Given the description of an element on the screen output the (x, y) to click on. 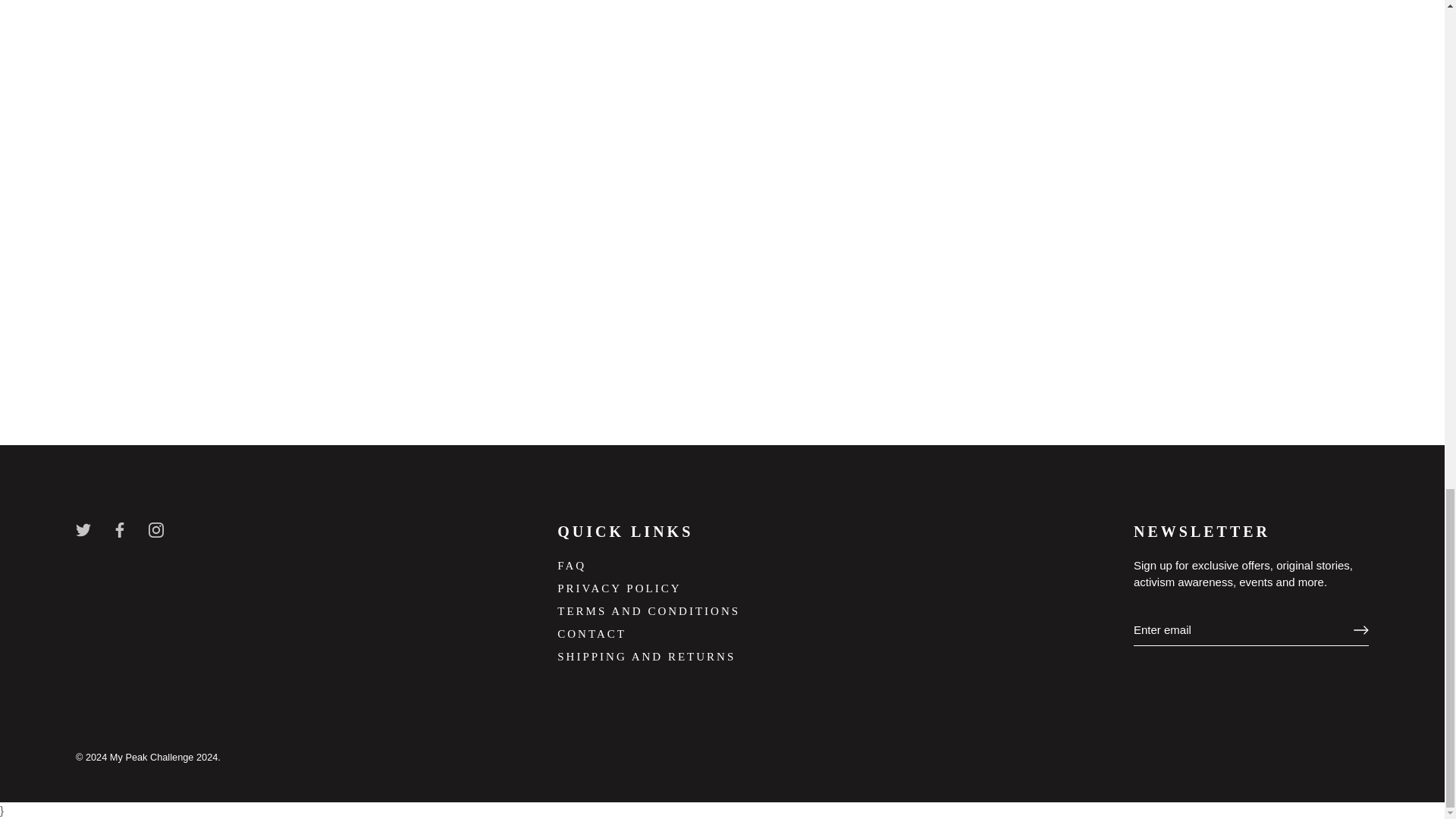
Twitter (82, 529)
Instagram (155, 529)
RIGHT ARROW LONG (1361, 630)
